Given the description of an element on the screen output the (x, y) to click on. 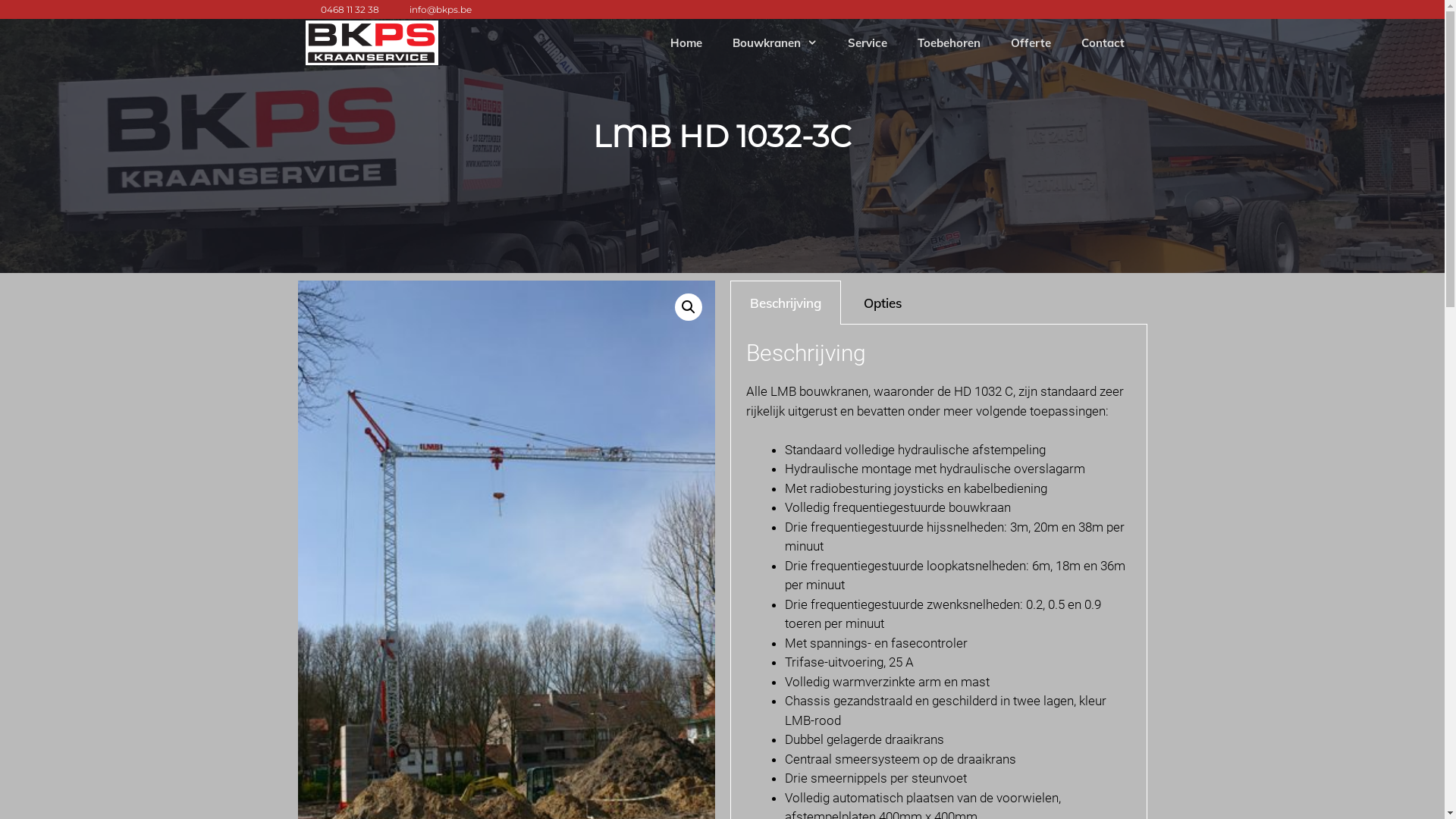
0468 11 32 38 Element type: text (348, 9)
Contact Element type: text (1102, 42)
Offerte Element type: text (1029, 42)
Home Element type: text (686, 42)
Service Element type: text (867, 42)
Toebehoren Element type: text (948, 42)
info@bkps.be Element type: text (440, 9)
LMB HD 1032-3C Element type: text (721, 136)
Bouwkranen Element type: text (774, 42)
